Given the description of an element on the screen output the (x, y) to click on. 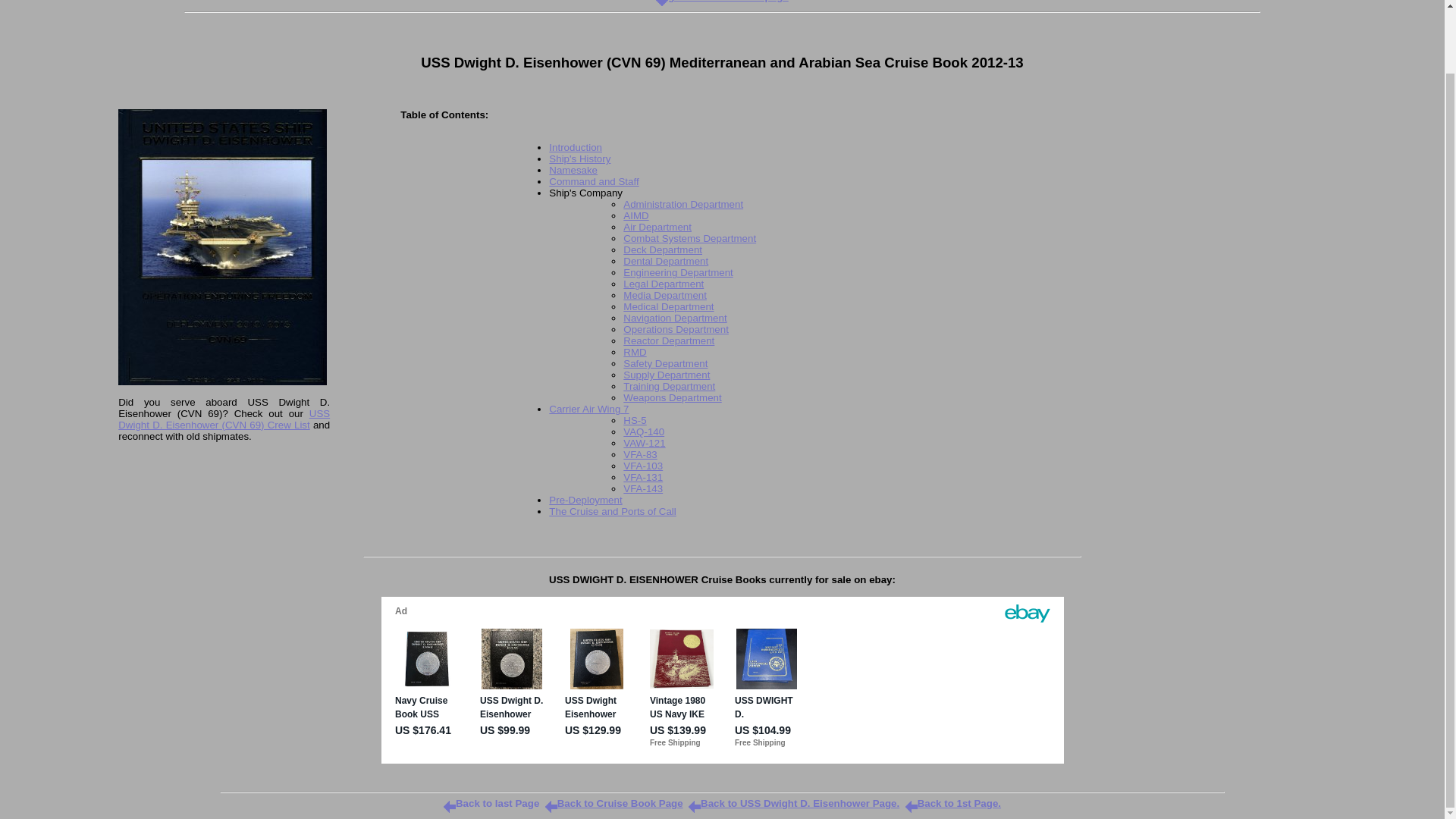
Back to last Page (491, 803)
Dental Department (665, 260)
VFA-143 (642, 488)
Legal Department (663, 283)
Namesake (572, 170)
VFA-83 (639, 454)
Air Department (657, 226)
Command and Staff (593, 181)
VAQ-140 (643, 431)
Combat Systems Department (689, 238)
Back to 1st Page. (953, 803)
Engineering Department (677, 272)
Carrier Air Wing 7 (588, 408)
VAW-121 (644, 442)
VFA-131 (642, 477)
